Given the description of an element on the screen output the (x, y) to click on. 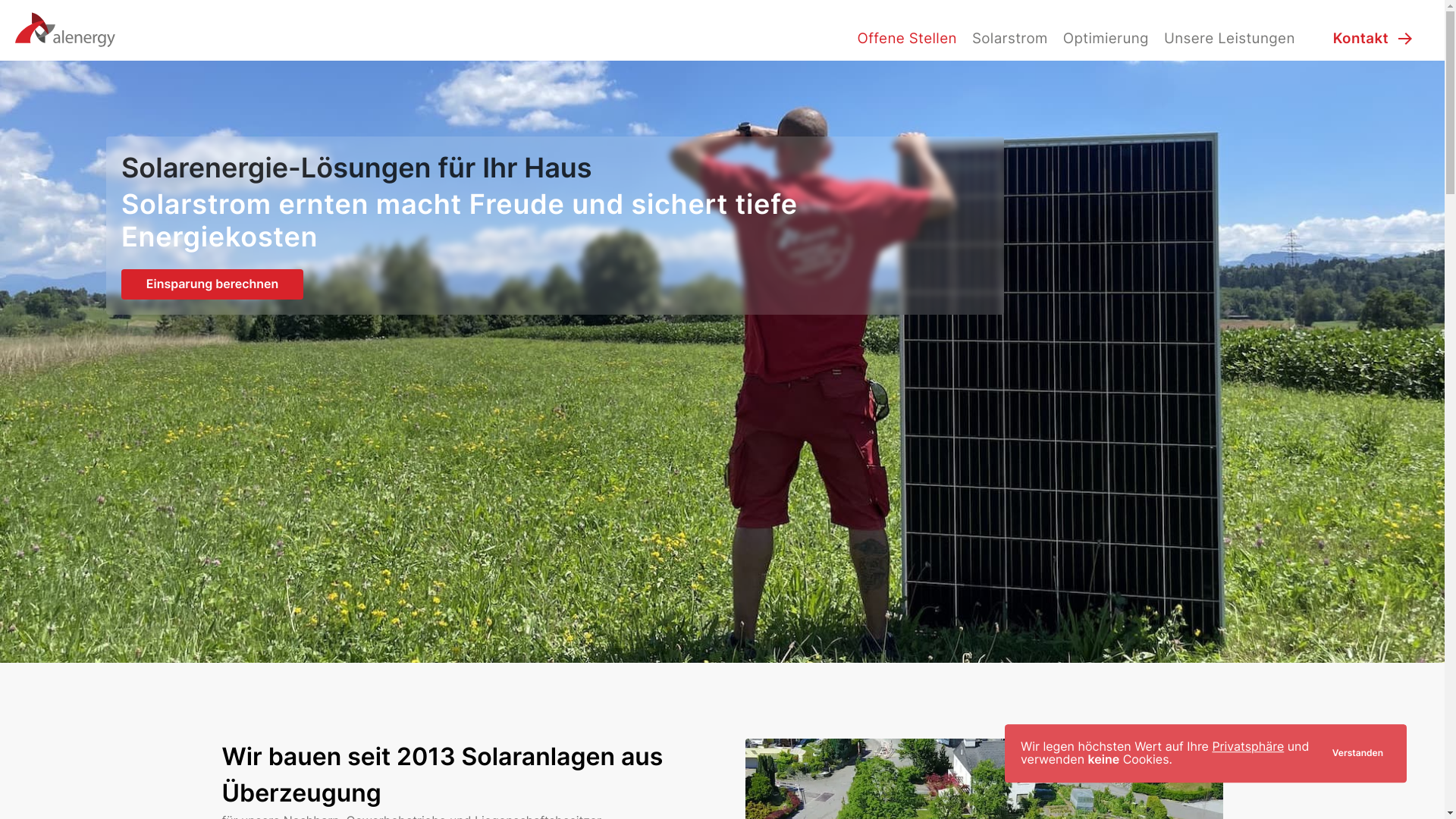
Einsparung berechnen Element type: text (212, 284)
Optimierung Element type: text (1105, 37)
Unsere Leistungen Element type: text (1229, 37)
Solarstrom Element type: text (1009, 37)
Offene Stellen Element type: text (907, 37)
Alenergy Logo Element type: text (65, 30)
Verstanden Element type: text (1357, 754)
Einsparung berechnen Element type: text (212, 283)
Kontakt Element type: text (1373, 37)
